Given the description of an element on the screen output the (x, y) to click on. 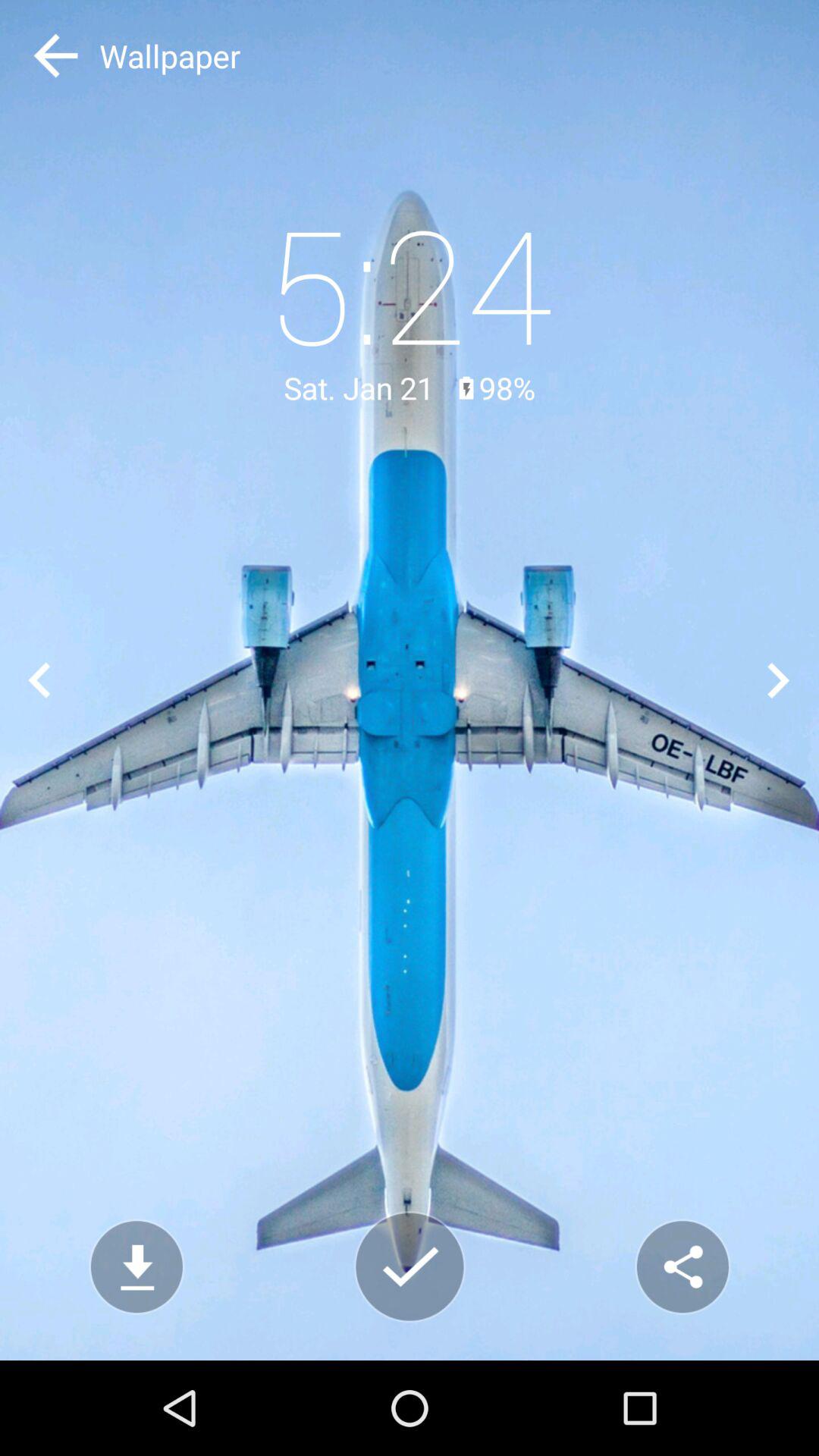
go back (39, 680)
